Given the description of an element on the screen output the (x, y) to click on. 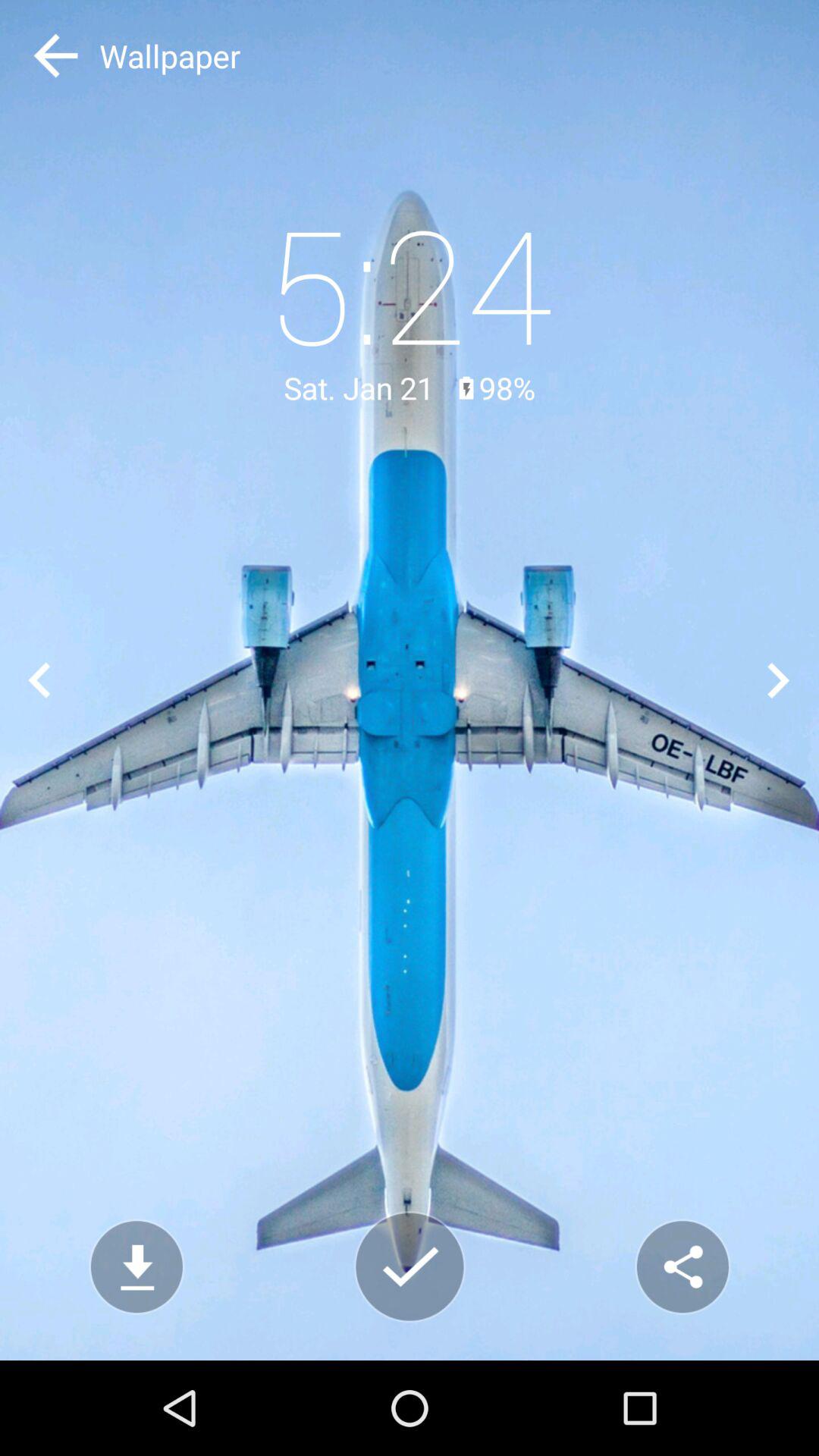
go back (39, 680)
